Given the description of an element on the screen output the (x, y) to click on. 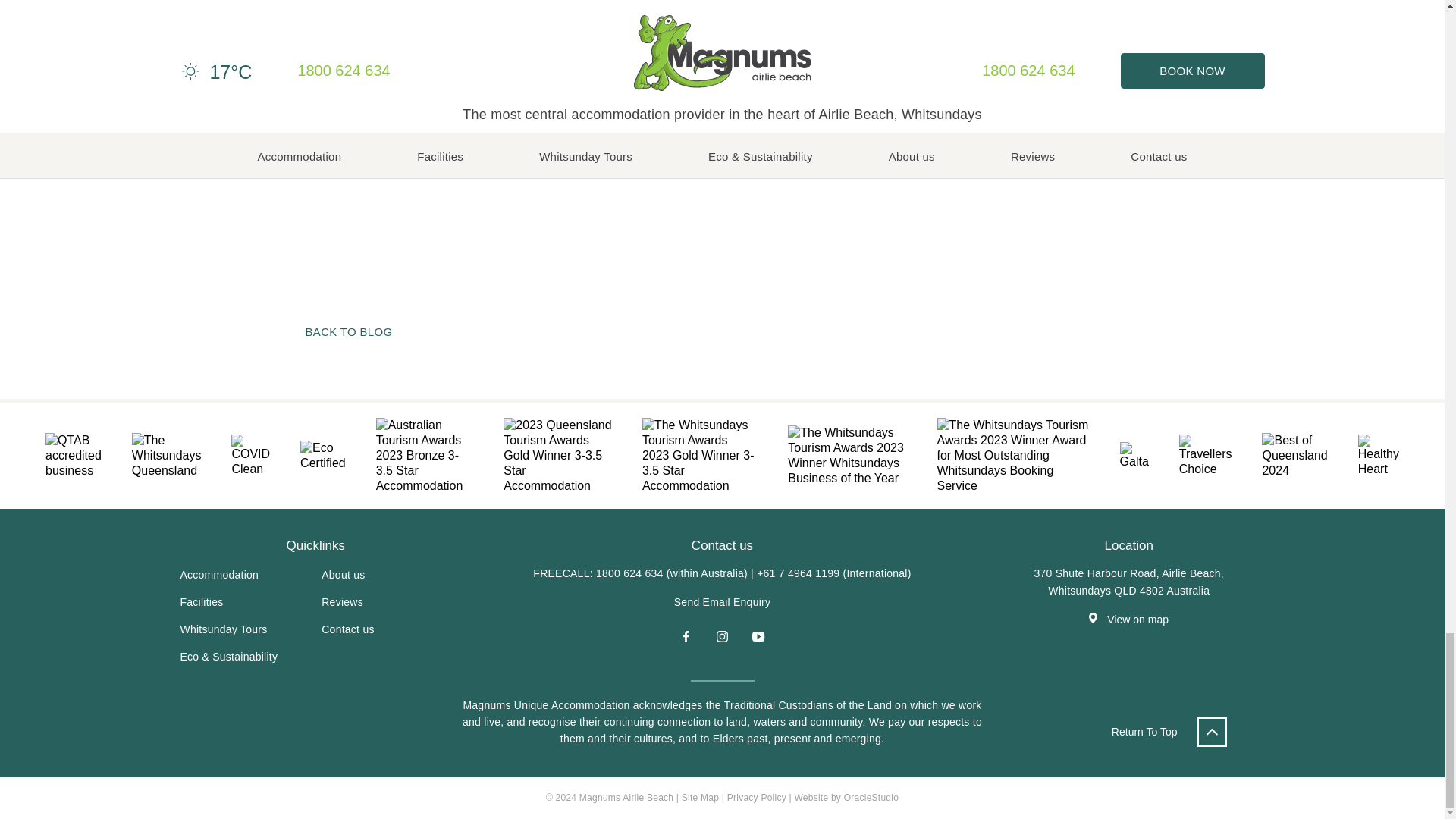
Accommodation (219, 574)
Accommodation (219, 574)
BACK TO BLOG (347, 331)
Whitsunday Tours (223, 629)
Contact us (347, 629)
1800 624 634 (629, 573)
Send Email Enquiry (722, 602)
Return To Top (1169, 731)
Whitsunday Tours (223, 629)
About us (343, 574)
Facilities (202, 602)
Reviews (341, 602)
Facilities (202, 602)
Snake  (505, 145)
Feeding the crocodiles  (937, 145)
